Given the description of an element on the screen output the (x, y) to click on. 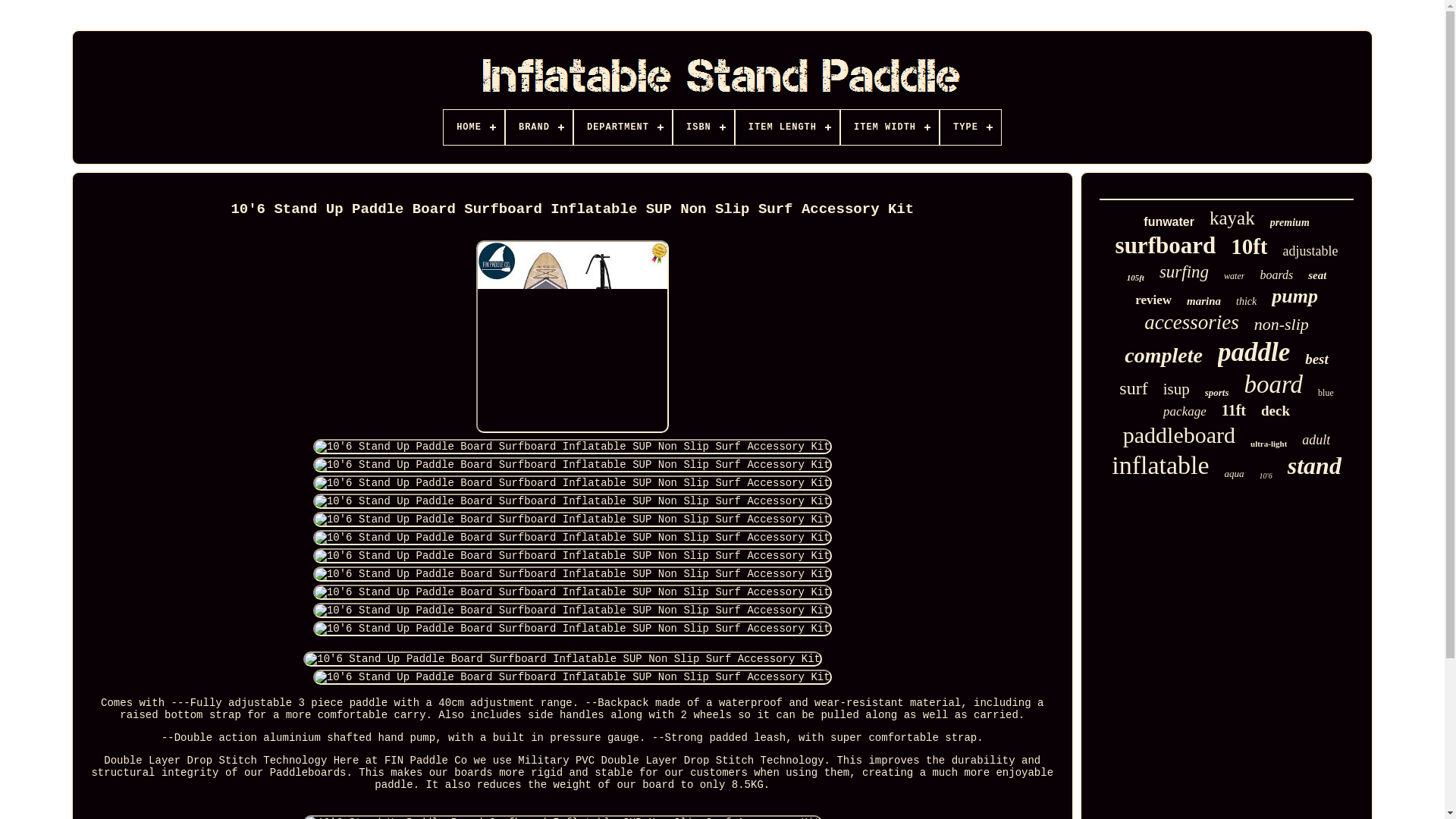
BRAND (538, 126)
DEPARTMENT (622, 126)
